Given the description of an element on the screen output the (x, y) to click on. 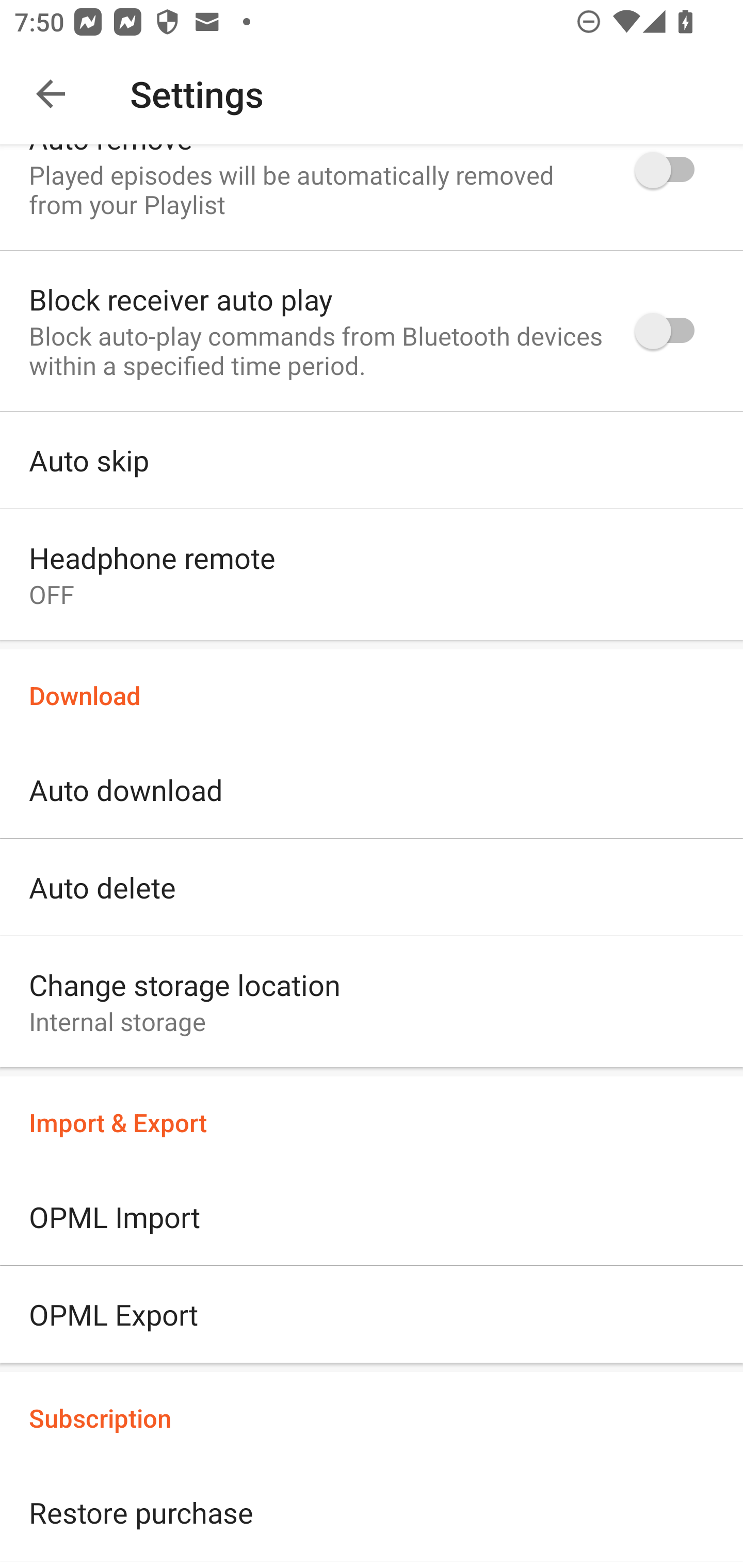
Navigate up (50, 93)
Auto skip (371, 459)
Headphone remote OFF (371, 579)
Auto download (371, 789)
Auto delete (371, 887)
Change storage location Internal storage (371, 1006)
OPML Import (371, 1216)
OPML Export (371, 1318)
Restore purchase (371, 1512)
